Given the description of an element on the screen output the (x, y) to click on. 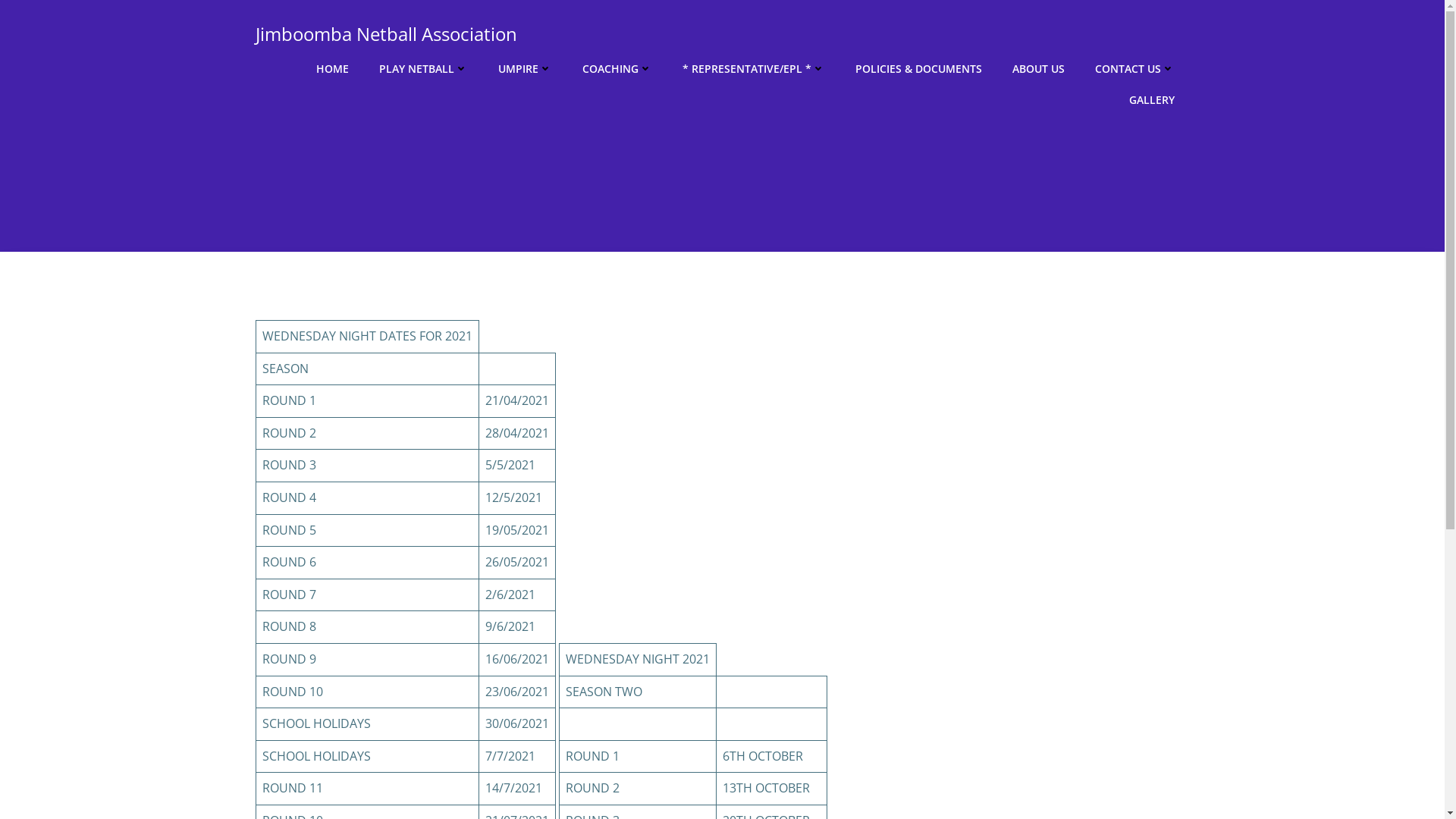
Jimboomba Netball Association Element type: text (385, 33)
PLAY NETBALL Element type: text (423, 68)
ABOUT US Element type: text (1037, 68)
HOME Element type: text (331, 68)
CONTACT US Element type: text (1134, 68)
UMPIRE Element type: text (524, 68)
POLICIES & DOCUMENTS Element type: text (918, 68)
COACHING Element type: text (617, 68)
Colibri Element type: text (946, 773)
GALLERY Element type: text (1150, 99)
* REPRESENTATIVE/EPL * Element type: text (753, 68)
